Given the description of an element on the screen output the (x, y) to click on. 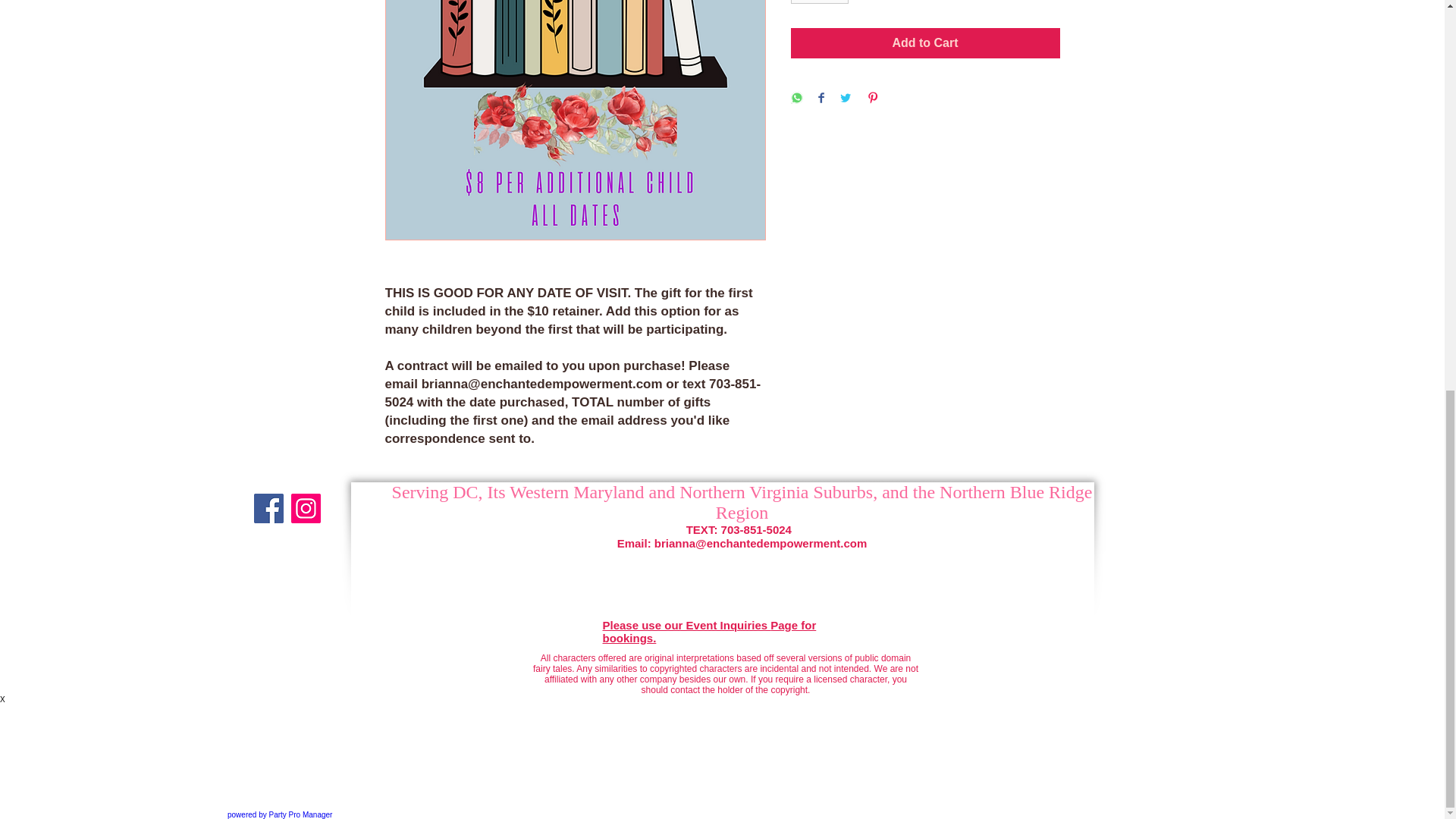
Add to Cart (924, 42)
1 (818, 2)
Please use our Event Inquiries Page for bookings. (708, 632)
